Given the description of an element on the screen output the (x, y) to click on. 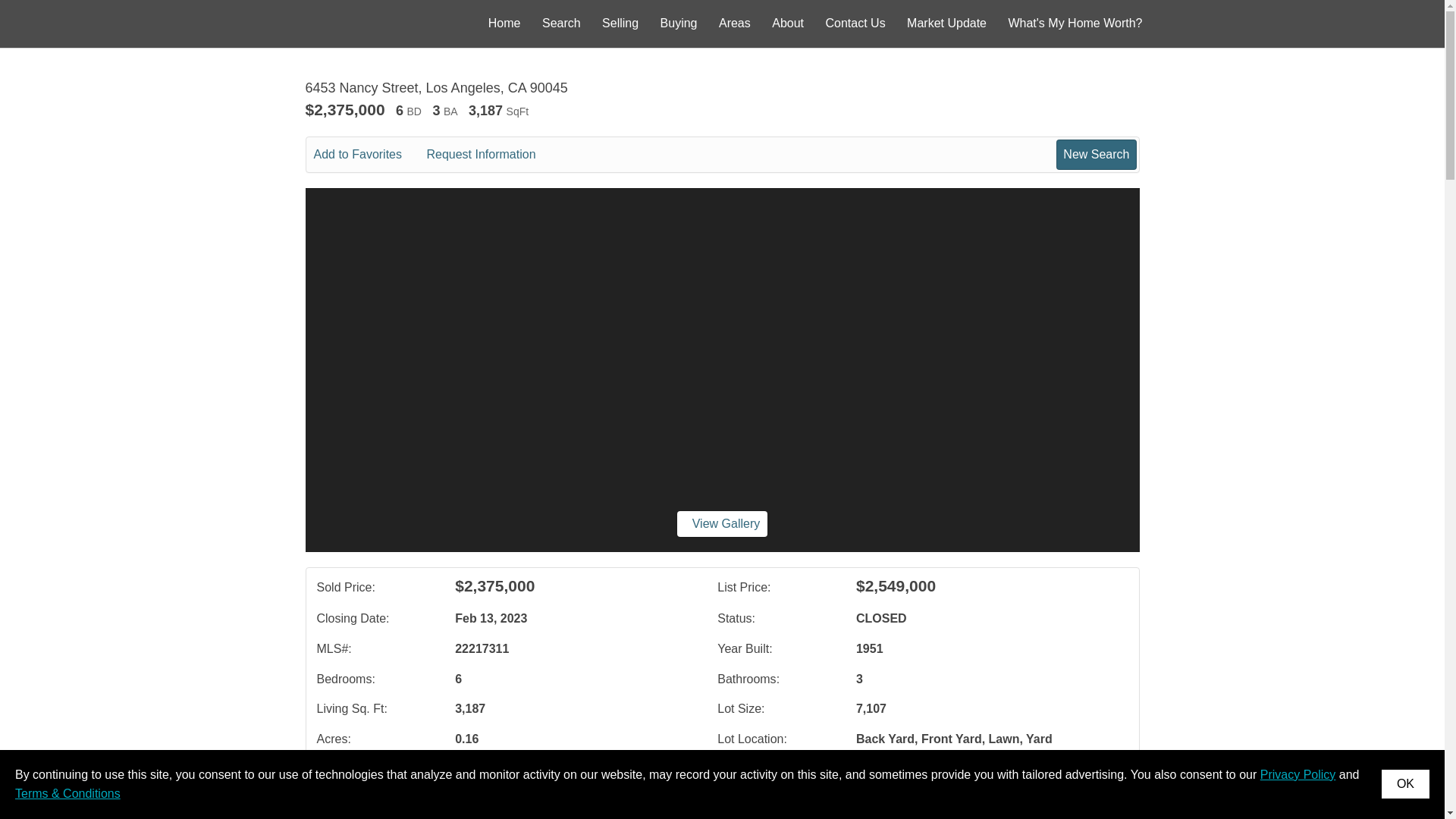
New Search (1096, 154)
Add to Favorites (368, 154)
Buying (679, 22)
Home (504, 22)
Search (560, 22)
About (787, 22)
Contact Us (855, 22)
View Gallery (722, 524)
What's My Home Worth? (1074, 22)
View Gallery (722, 522)
